Given the description of an element on the screen output the (x, y) to click on. 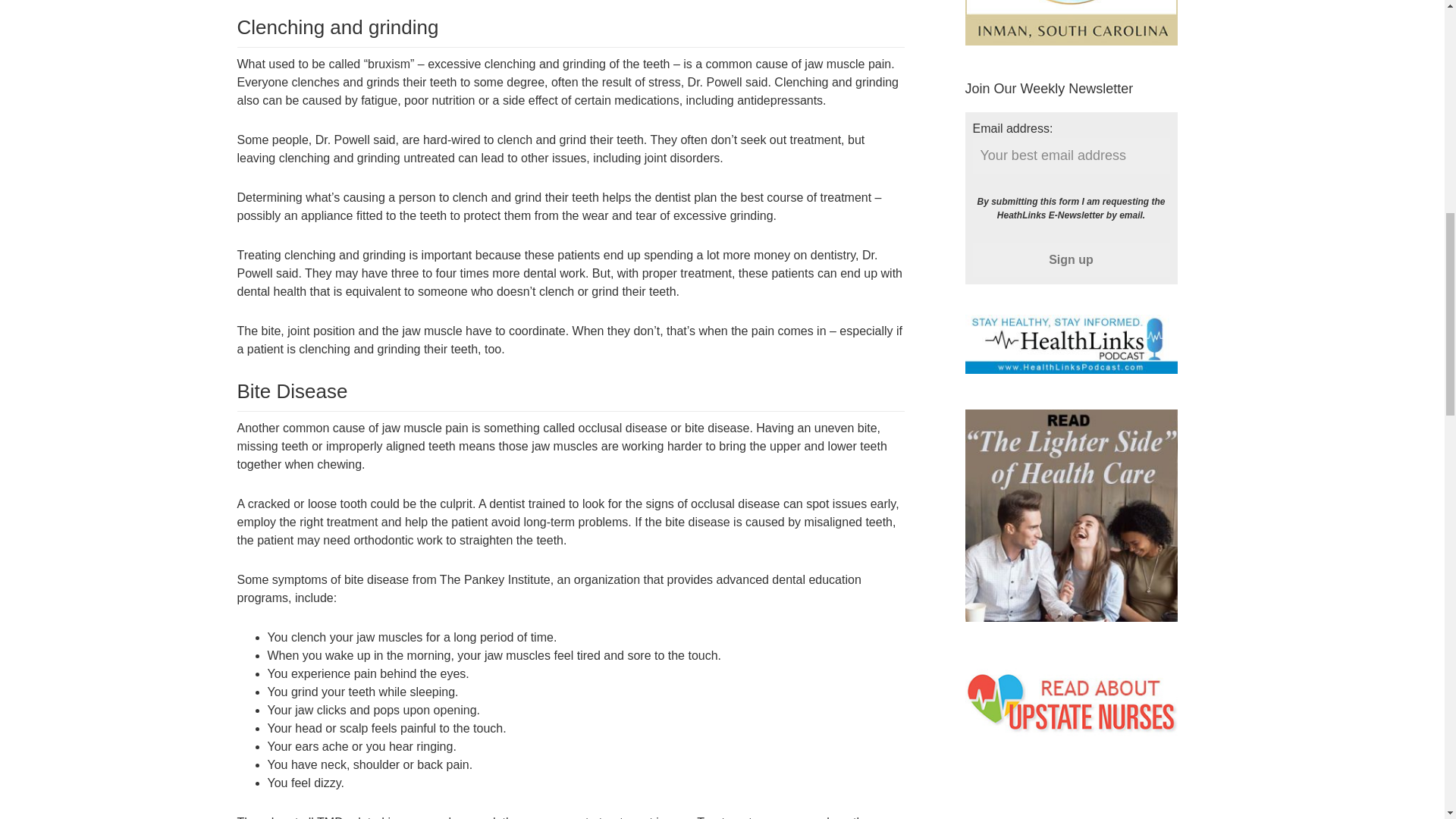
Sign up (1070, 259)
Sign up (1070, 259)
